Given the description of an element on the screen output the (x, y) to click on. 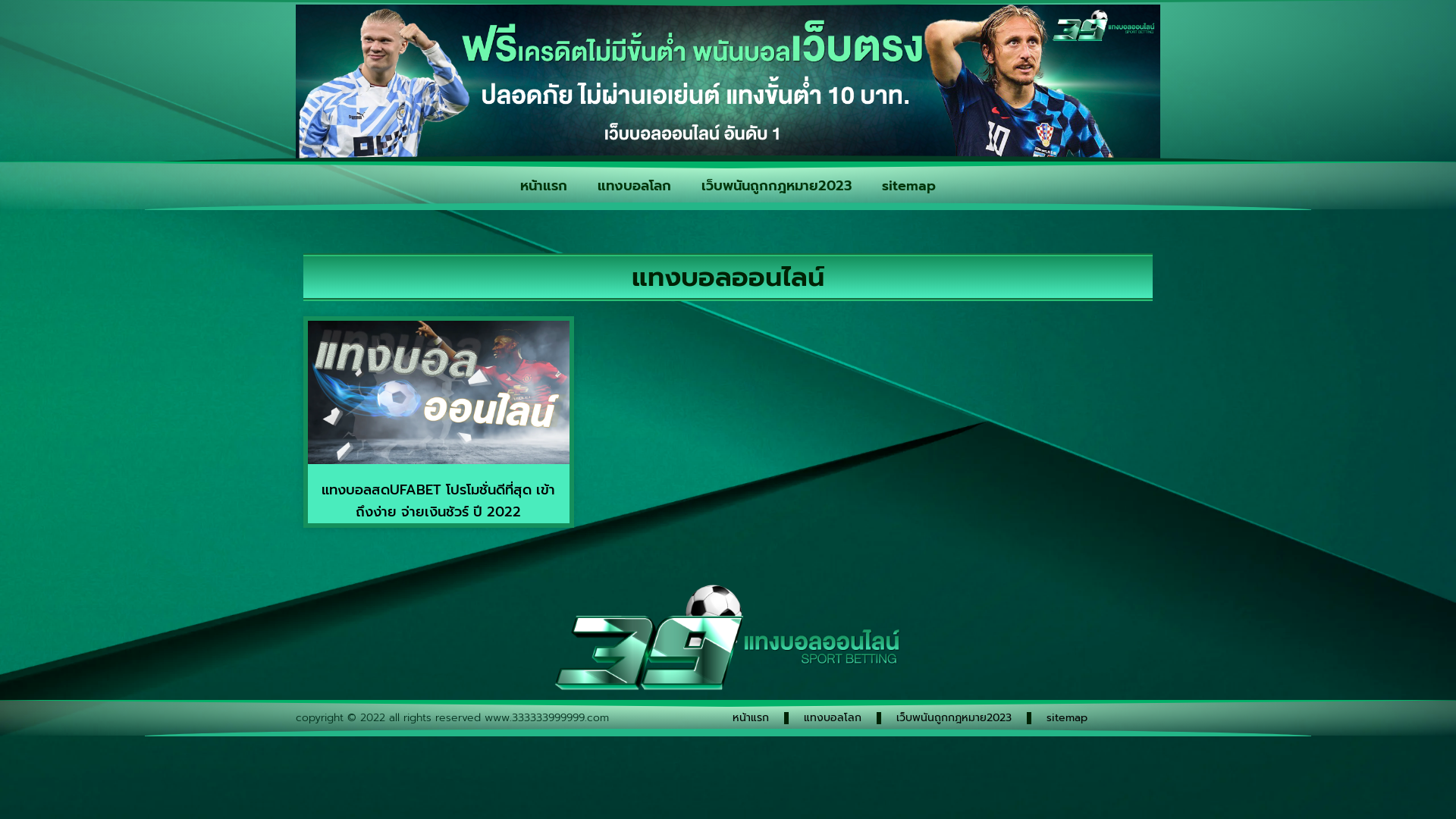
sitemap Element type: text (908, 185)
www.333333999999.com Element type: text (546, 717)
sitemap Element type: text (1066, 717)
